Given the description of an element on the screen output the (x, y) to click on. 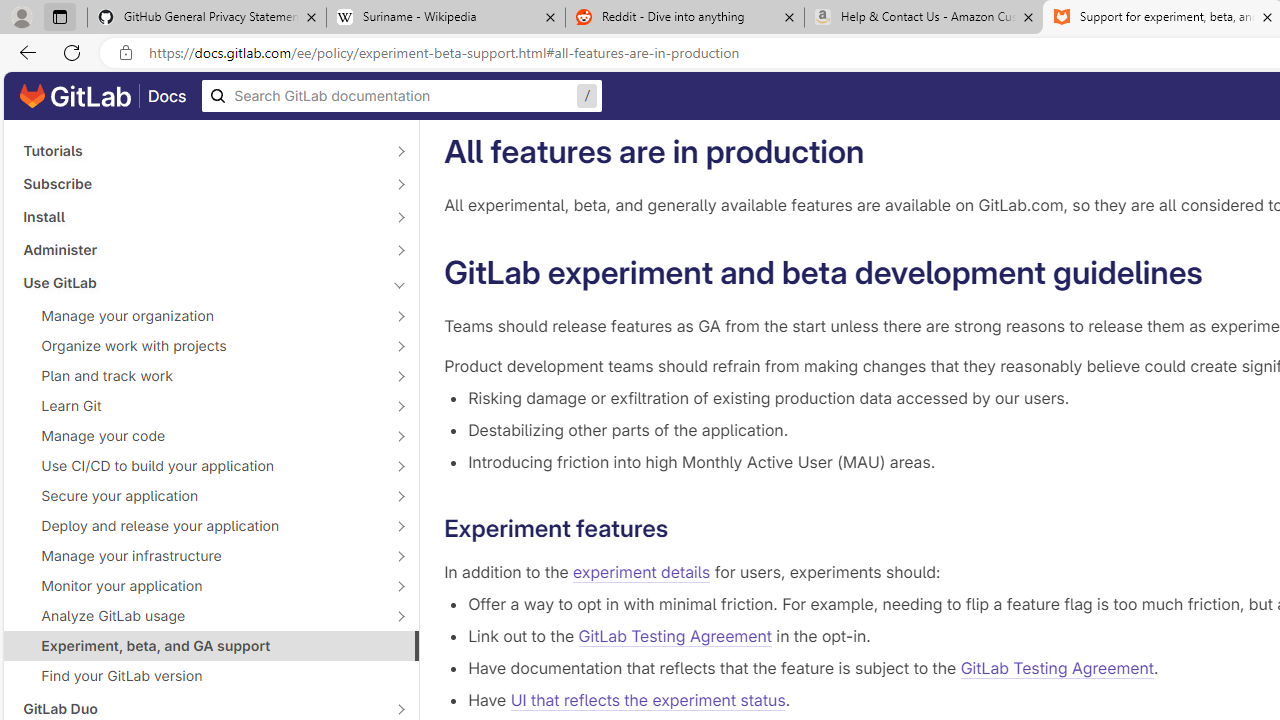
Learn Git (199, 405)
Help & Contact Us - Amazon Customer Service - Sleeping (924, 17)
Subscribe (199, 183)
Suriname - Wikipedia (445, 17)
experiment details (641, 572)
